Given the description of an element on the screen output the (x, y) to click on. 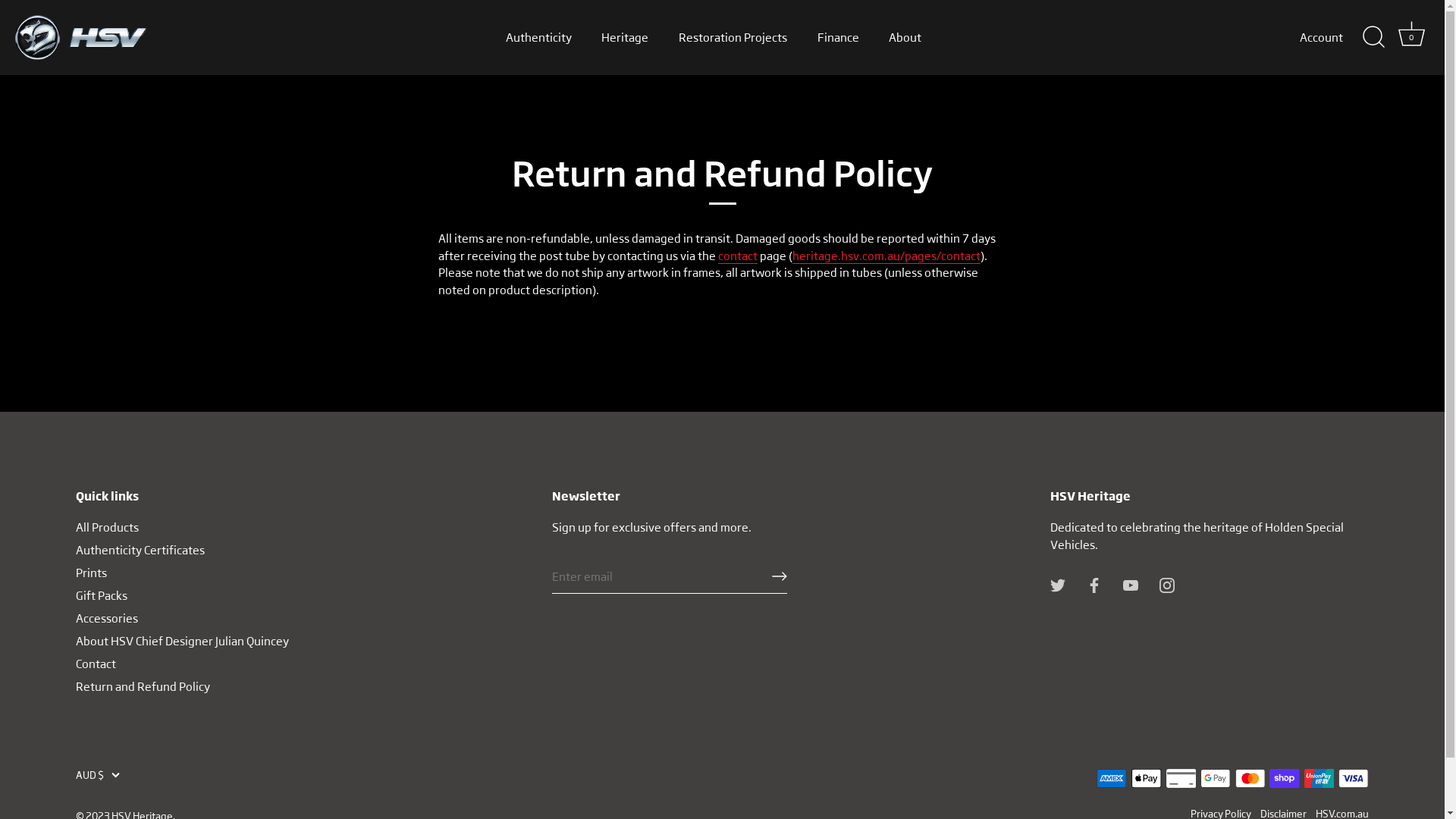
About HSV Chief Designer Julian Quincey Element type: text (181, 640)
Twitter Element type: text (1057, 583)
heritage.hsv.com.au/pages/contact Element type: text (885, 255)
contact Element type: text (736, 255)
All Products Element type: text (106, 526)
RIGHT ARROW LONG Element type: text (779, 575)
Cart
0 Element type: text (1410, 36)
About Element type: text (905, 36)
Youtube Element type: text (1130, 583)
Authenticity Element type: text (538, 36)
AUD $ Element type: text (106, 774)
Restoration Projects Element type: text (733, 36)
Finance Element type: text (837, 36)
Instagram Element type: text (1166, 583)
Gift Packs Element type: text (101, 594)
Authenticity Certificates Element type: text (139, 549)
Contact Element type: text (95, 663)
Prints Element type: text (90, 572)
Return and Refund Policy Element type: text (142, 685)
Account Element type: text (1334, 37)
Heritage Element type: text (624, 36)
Accessories Element type: text (106, 617)
